Given the description of an element on the screen output the (x, y) to click on. 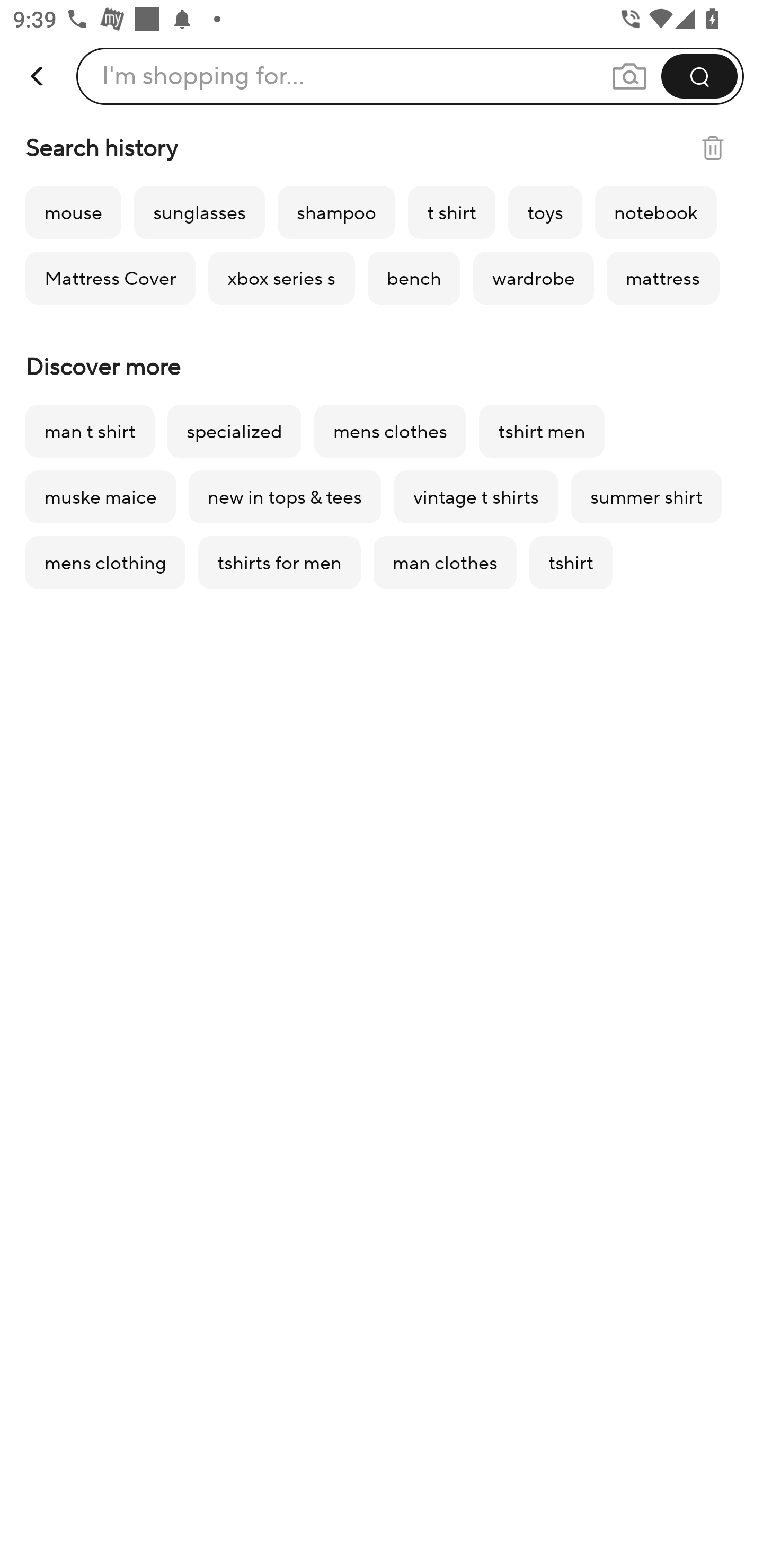
I'm shopping for… (409, 76)
I'm shopping for… (203, 76)
mouse (73, 212)
sunglasses (199, 212)
shampoo (336, 212)
t shirt (451, 212)
toys (545, 212)
notebook (656, 212)
Mattress Cover (110, 277)
xbox series s (281, 277)
bench (413, 277)
wardrobe (533, 277)
mattress (662, 277)
man t shirt (89, 430)
specialized (234, 430)
mens clothes (390, 430)
tshirt men (541, 430)
muske maice (100, 496)
new in tops & tees (284, 496)
vintage t shirts (476, 496)
summer shirt (646, 496)
mens clothing (105, 562)
tshirts for men (279, 562)
man clothes (444, 562)
tshirt (570, 562)
